Given the description of an element on the screen output the (x, y) to click on. 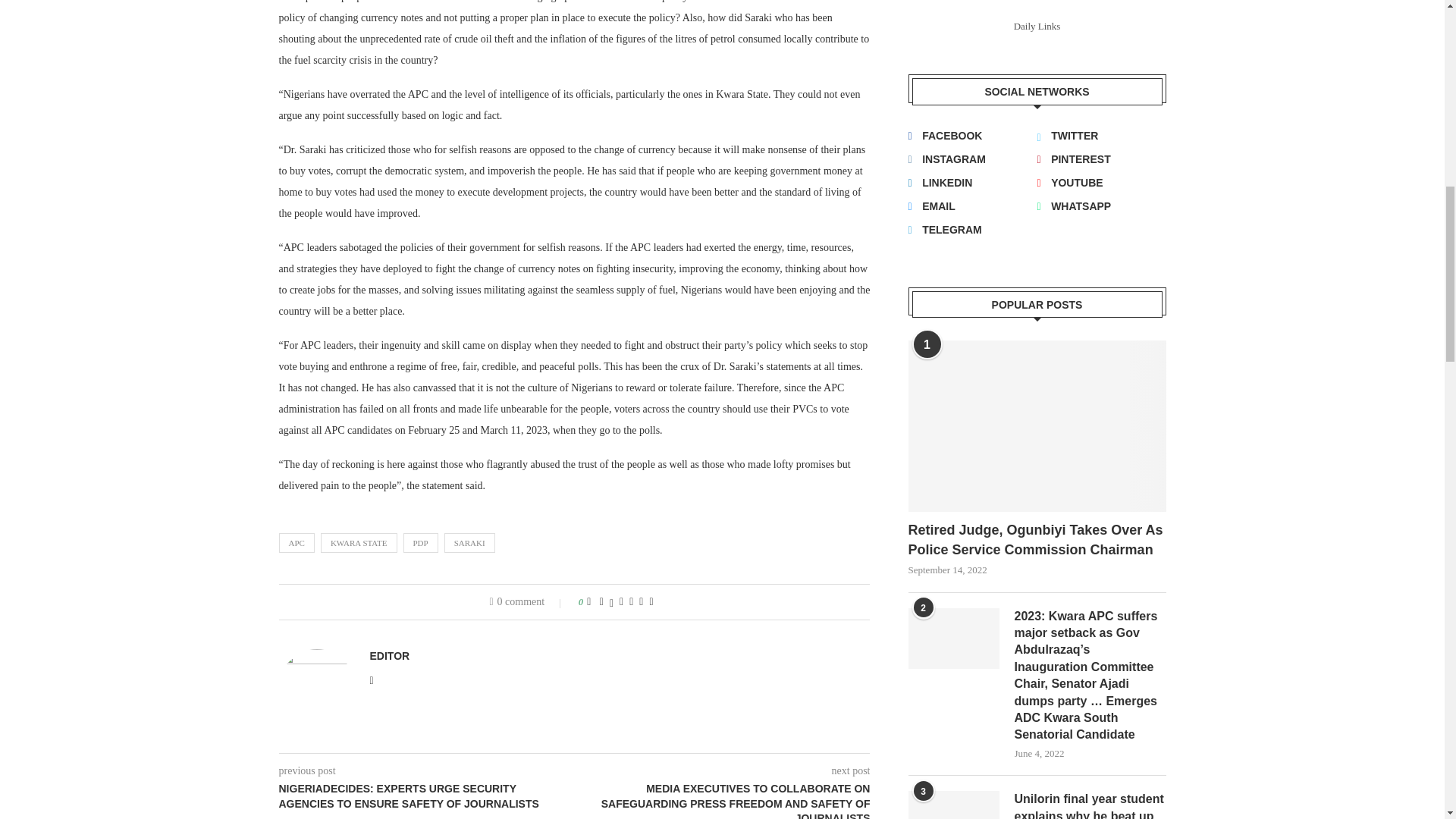
Author Editor (389, 656)
